Given the description of an element on the screen output the (x, y) to click on. 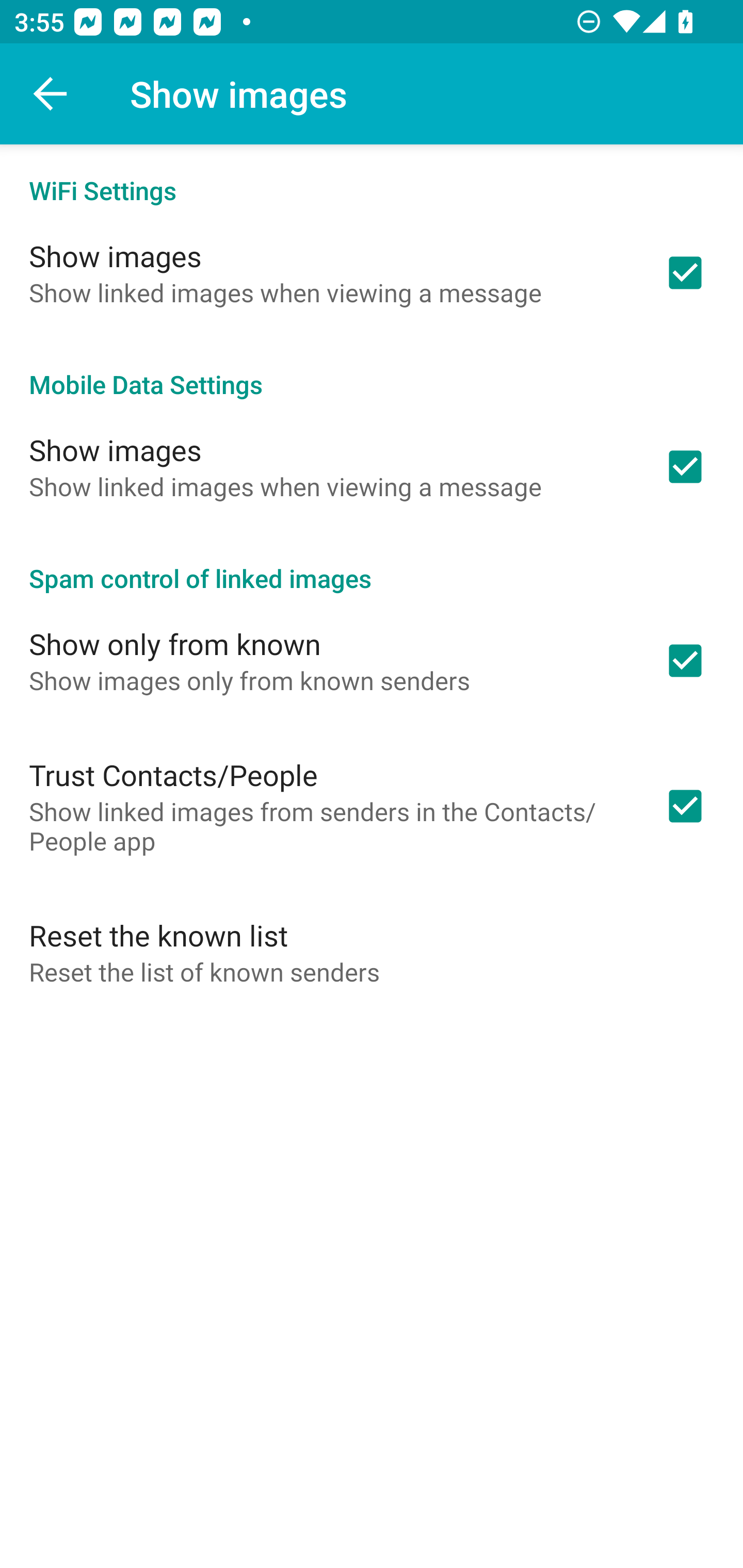
Navigate up (50, 93)
